Given the description of an element on the screen output the (x, y) to click on. 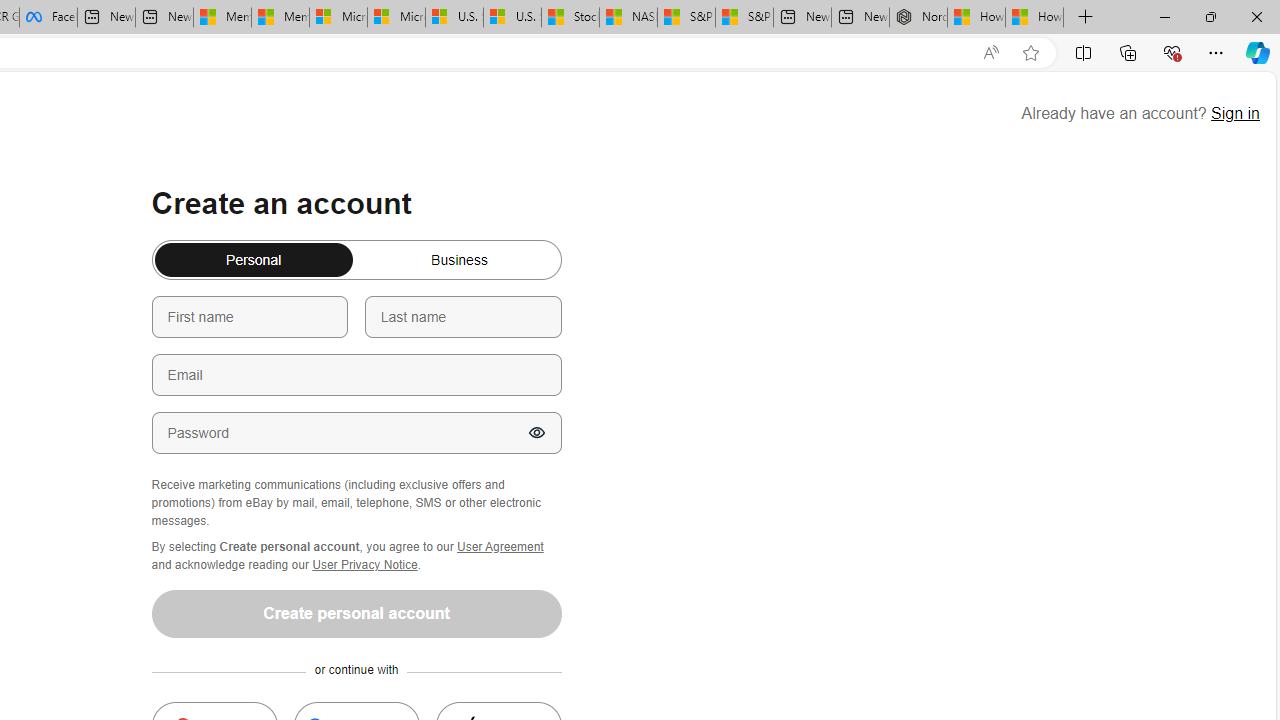
Create personal account (356, 613)
Personal (162, 251)
User Privacy Notice (365, 564)
First name (250, 316)
User Agreement (500, 546)
Email (356, 374)
